Given the description of an element on the screen output the (x, y) to click on. 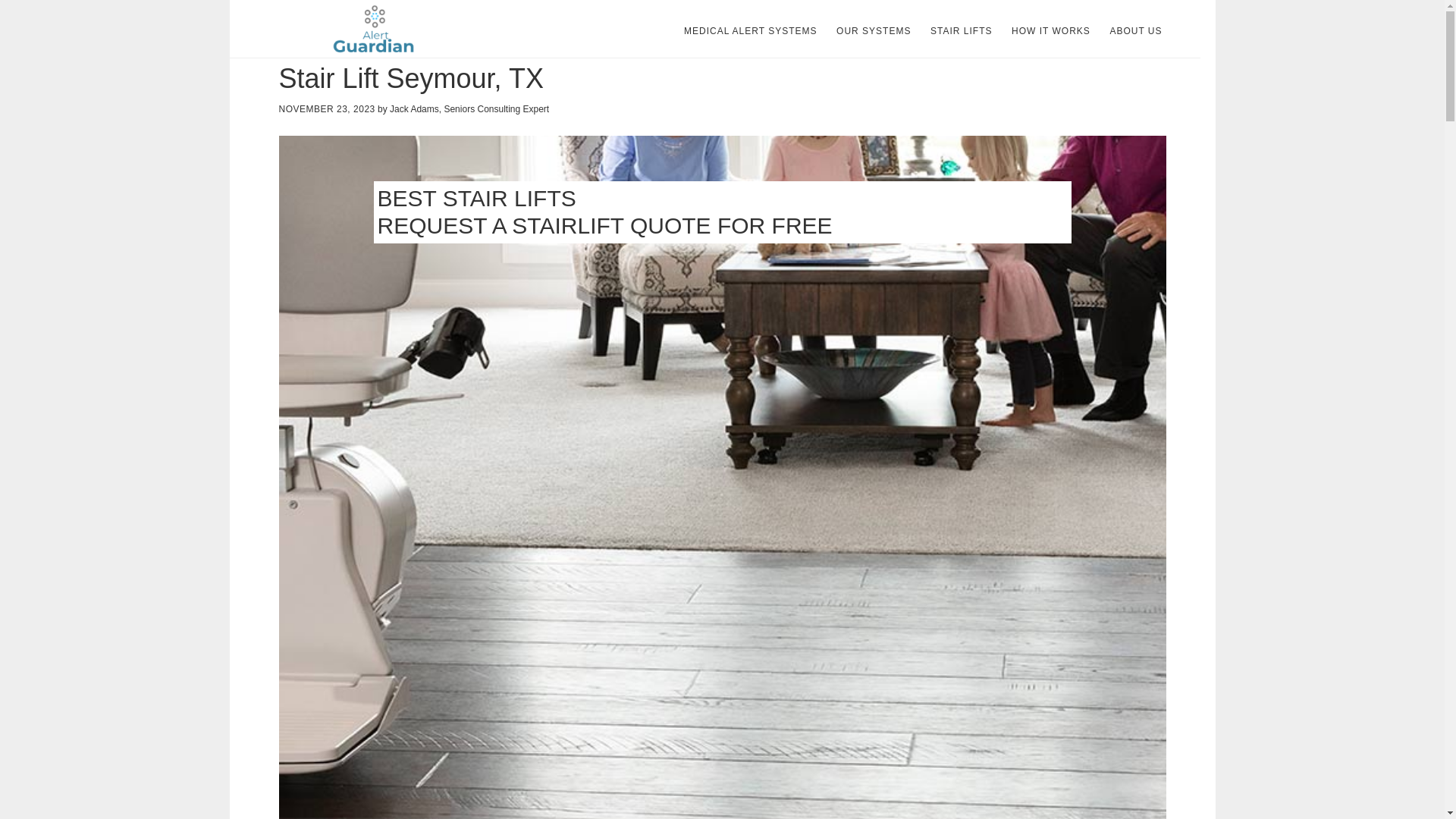
HOW IT WORKS (1050, 30)
ALERT GUARDIANS IN TEXAS (372, 28)
STAIR LIFTS (960, 30)
ABOUT US (1135, 30)
MEDICAL ALERT SYSTEMS (751, 30)
OUR SYSTEMS (873, 30)
